Given the description of an element on the screen output the (x, y) to click on. 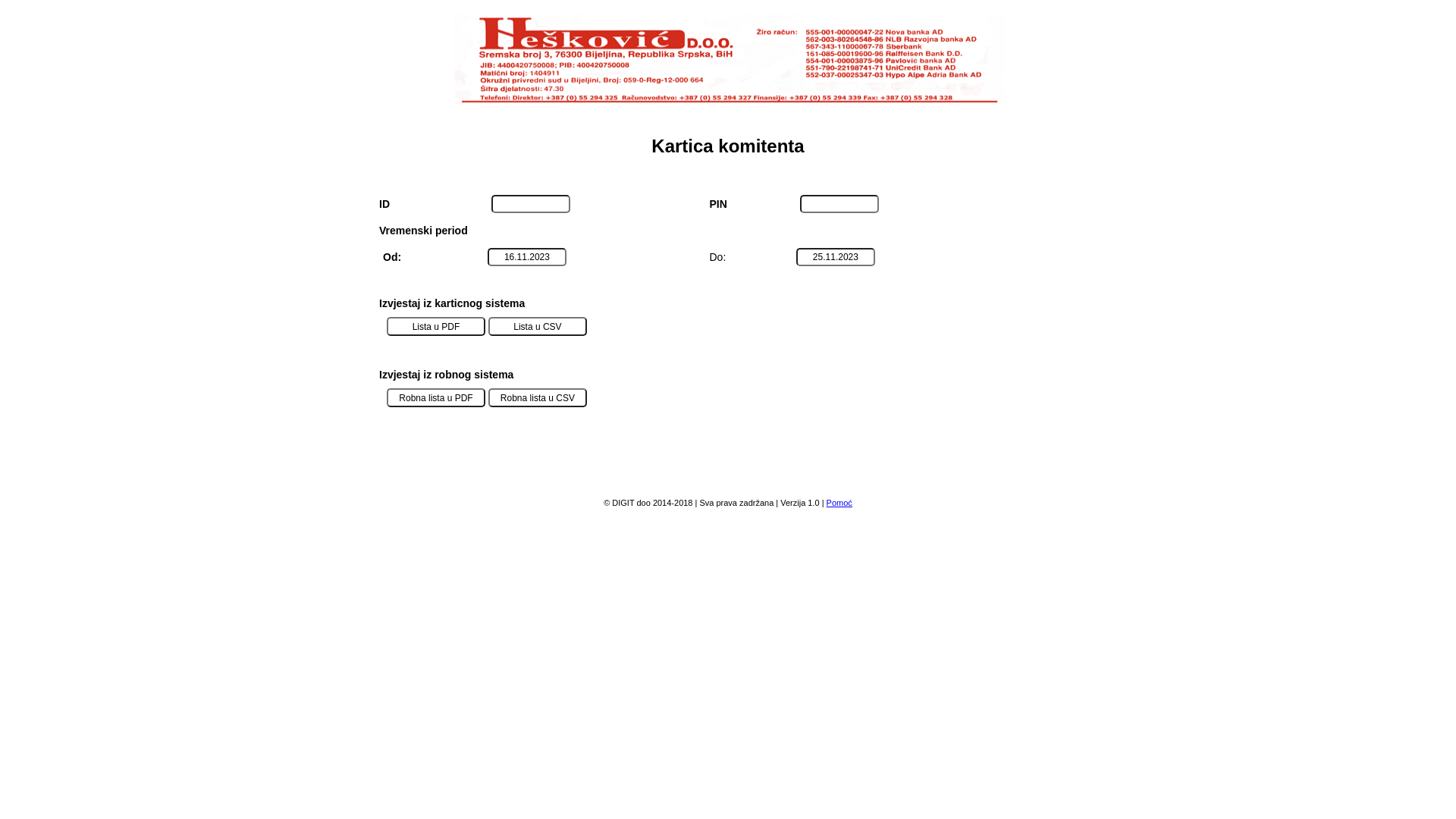
Lista u PDF Element type: text (435, 325)
Lista u CSV Element type: text (537, 325)
Robna lista u CSV Element type: text (537, 397)
Robna lista u PDF Element type: text (435, 397)
